Given the description of an element on the screen output the (x, y) to click on. 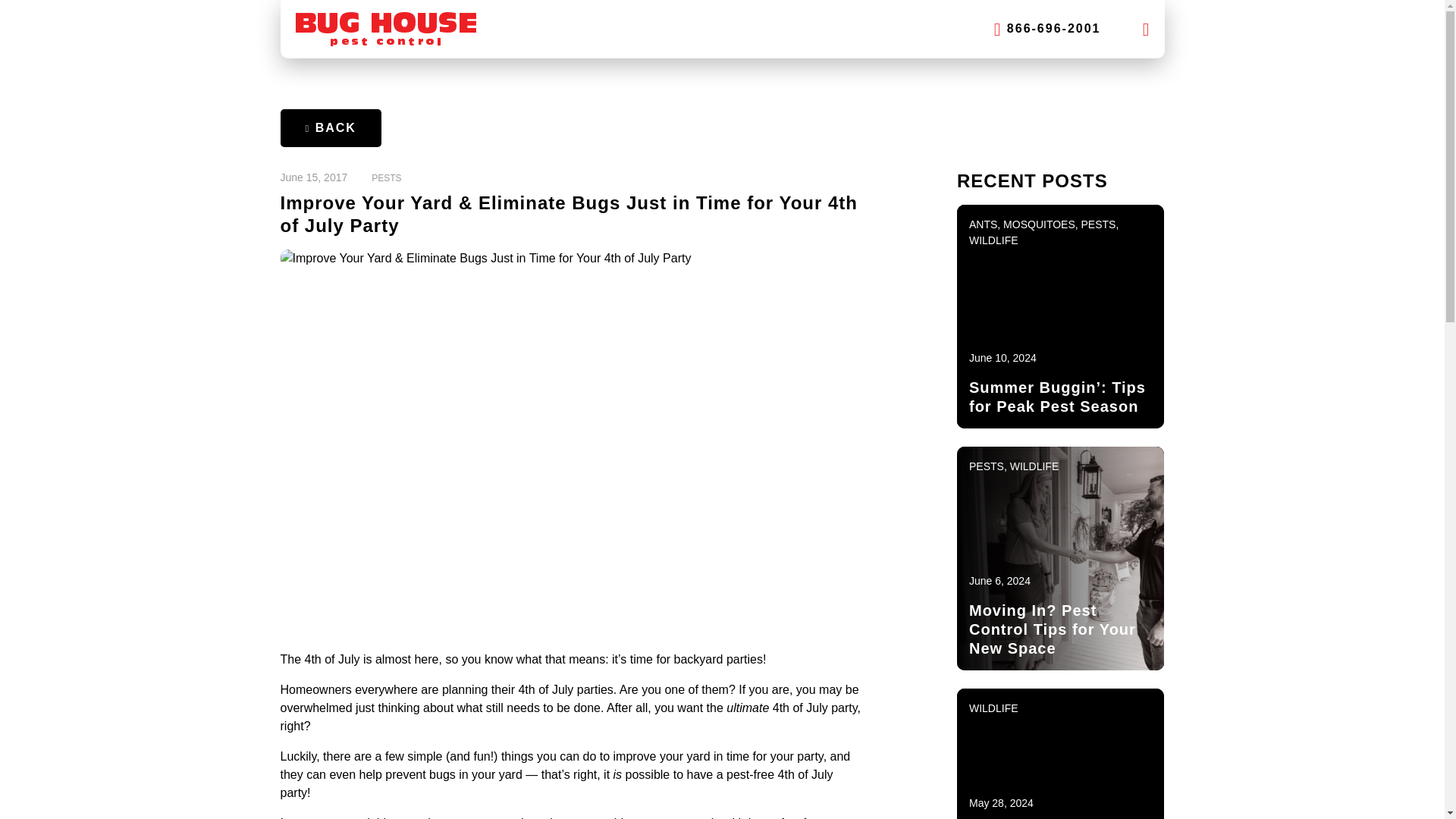
PESTS (386, 177)
BACK (331, 127)
866-696-2001 (1047, 28)
